Given the description of an element on the screen output the (x, y) to click on. 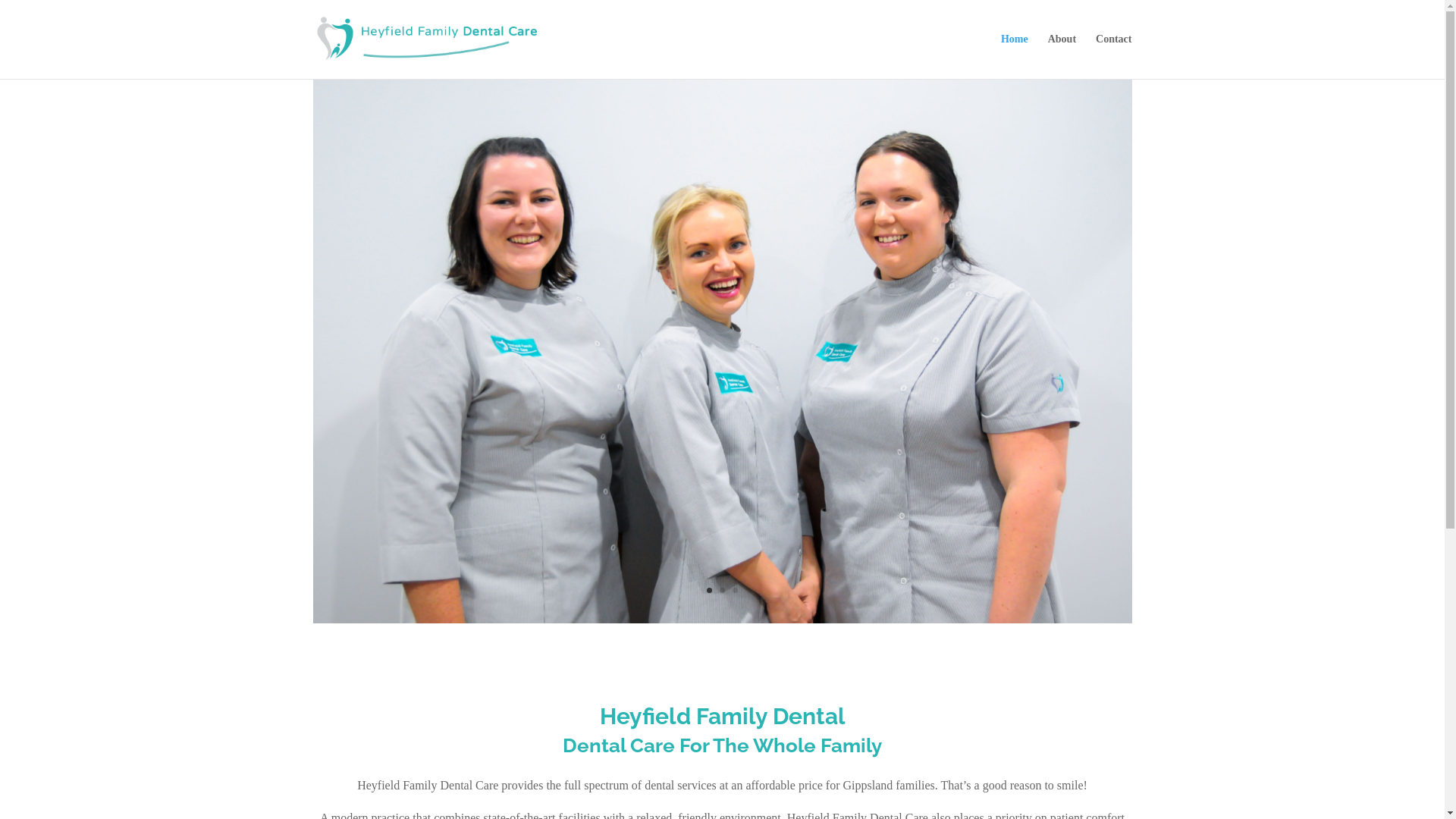
Home Element type: text (1014, 56)
About Element type: text (1062, 56)
3 Element type: text (734, 590)
2 Element type: text (721, 590)
1 Element type: text (709, 590)
Contact Element type: text (1113, 56)
